Given the description of an element on the screen output the (x, y) to click on. 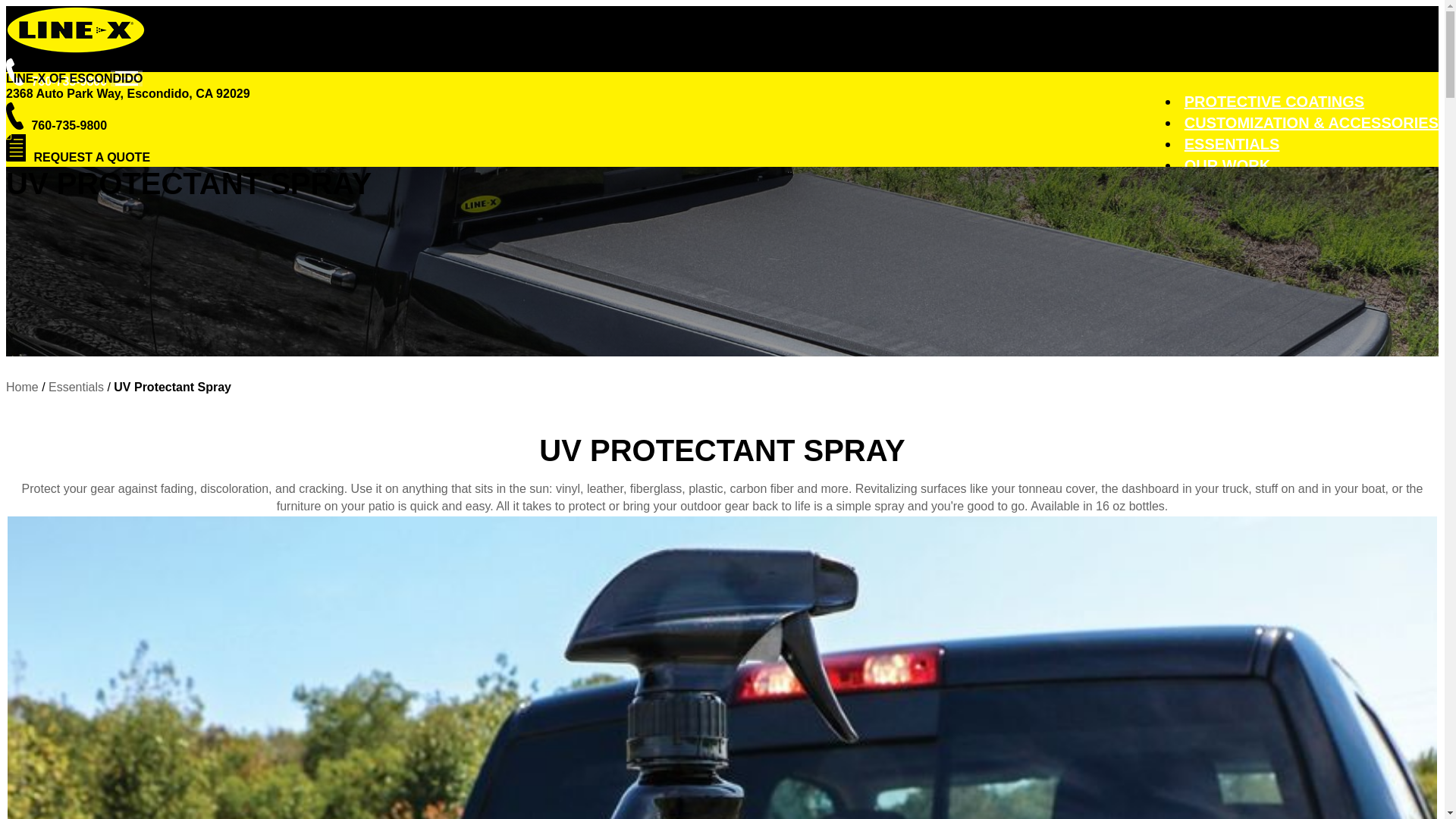
Home (22, 386)
PROTECTIVE COATINGS (1274, 101)
Essentials (75, 386)
ESSENTIALS (1232, 143)
OUR WORK (1227, 165)
UV Protectant Spray (172, 386)
